Given the description of an element on the screen output the (x, y) to click on. 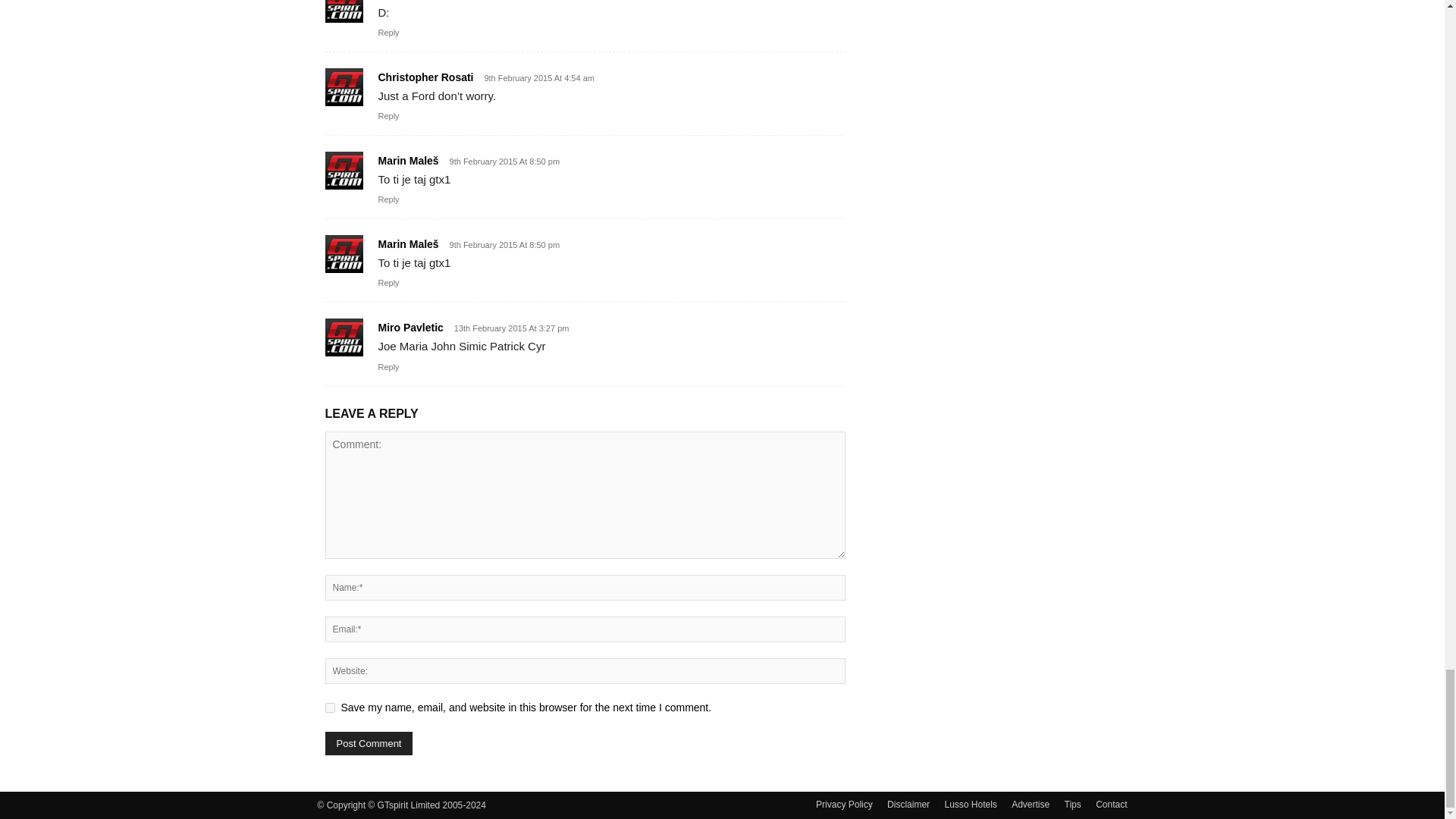
Post Comment (368, 743)
yes (329, 707)
